Given the description of an element on the screen output the (x, y) to click on. 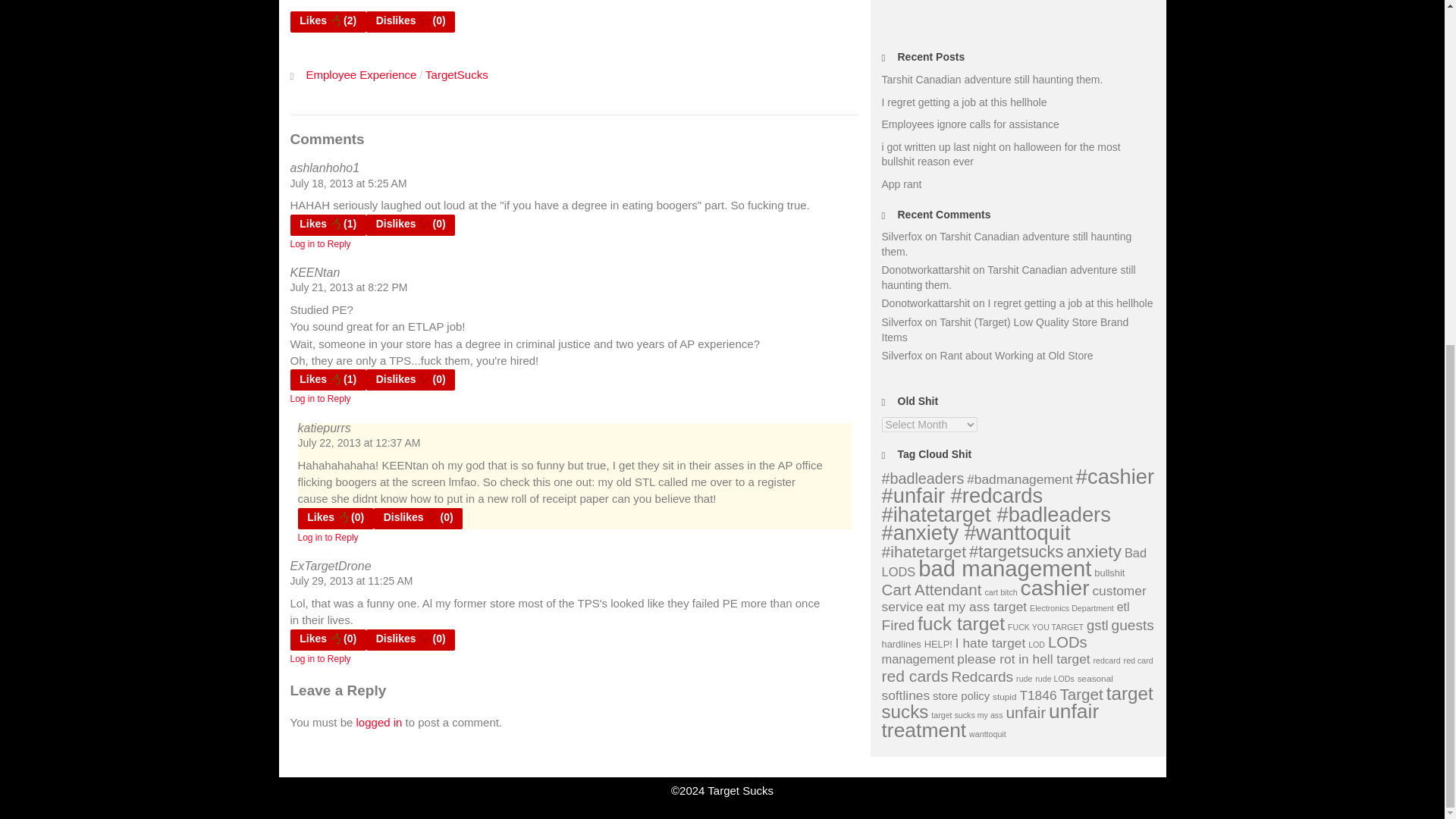
July 22, 2013 at 12:37 AM (358, 442)
Tarshit Canadian adventure still haunting them. (1005, 243)
July 18, 2013 at 5:25 AM (347, 183)
I regret getting a job at this hellhole (1070, 303)
July 21, 2013 at 8:22 PM (348, 287)
Log in to Reply (319, 658)
Log in to Reply (319, 398)
Employees ignore calls for assistance (969, 123)
Rant about Working at Old Store (1016, 355)
Tarshit Canadian adventure still haunting them. (991, 79)
logged in (379, 721)
Log in to Reply (319, 244)
Log in to Reply (327, 537)
anxiety (1094, 551)
I regret getting a job at this hellhole (963, 102)
